Given the description of an element on the screen output the (x, y) to click on. 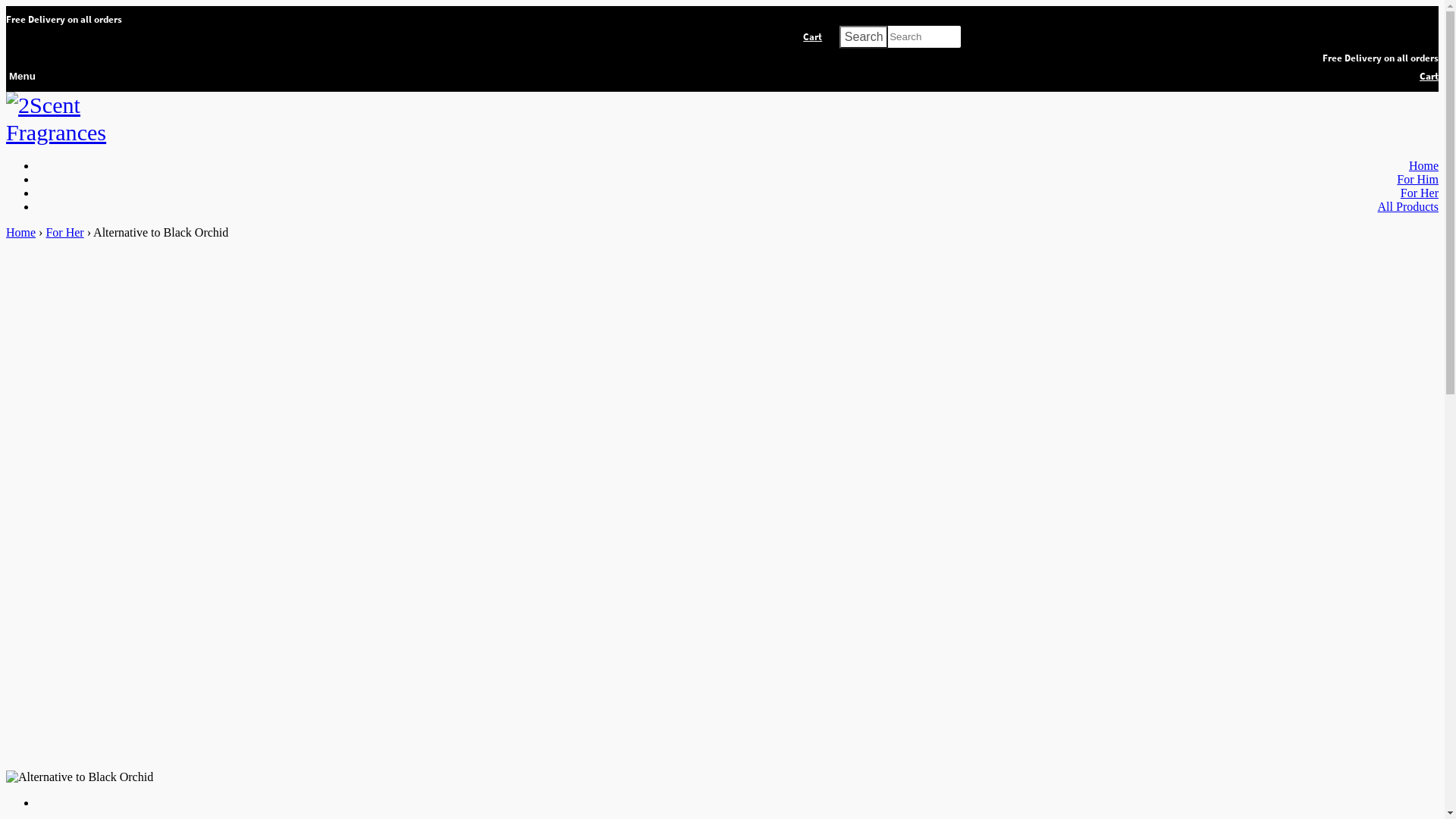
For Her Element type: text (1419, 192)
All Products Element type: text (1407, 206)
Home Element type: text (1423, 165)
Home Element type: text (20, 231)
Menu Element type: text (20, 76)
Search Element type: text (863, 36)
Cart Element type: text (1425, 76)
Cart Element type: text (812, 36)
For Her Element type: text (64, 231)
For Him Element type: text (1417, 178)
